Given the description of an element on the screen output the (x, y) to click on. 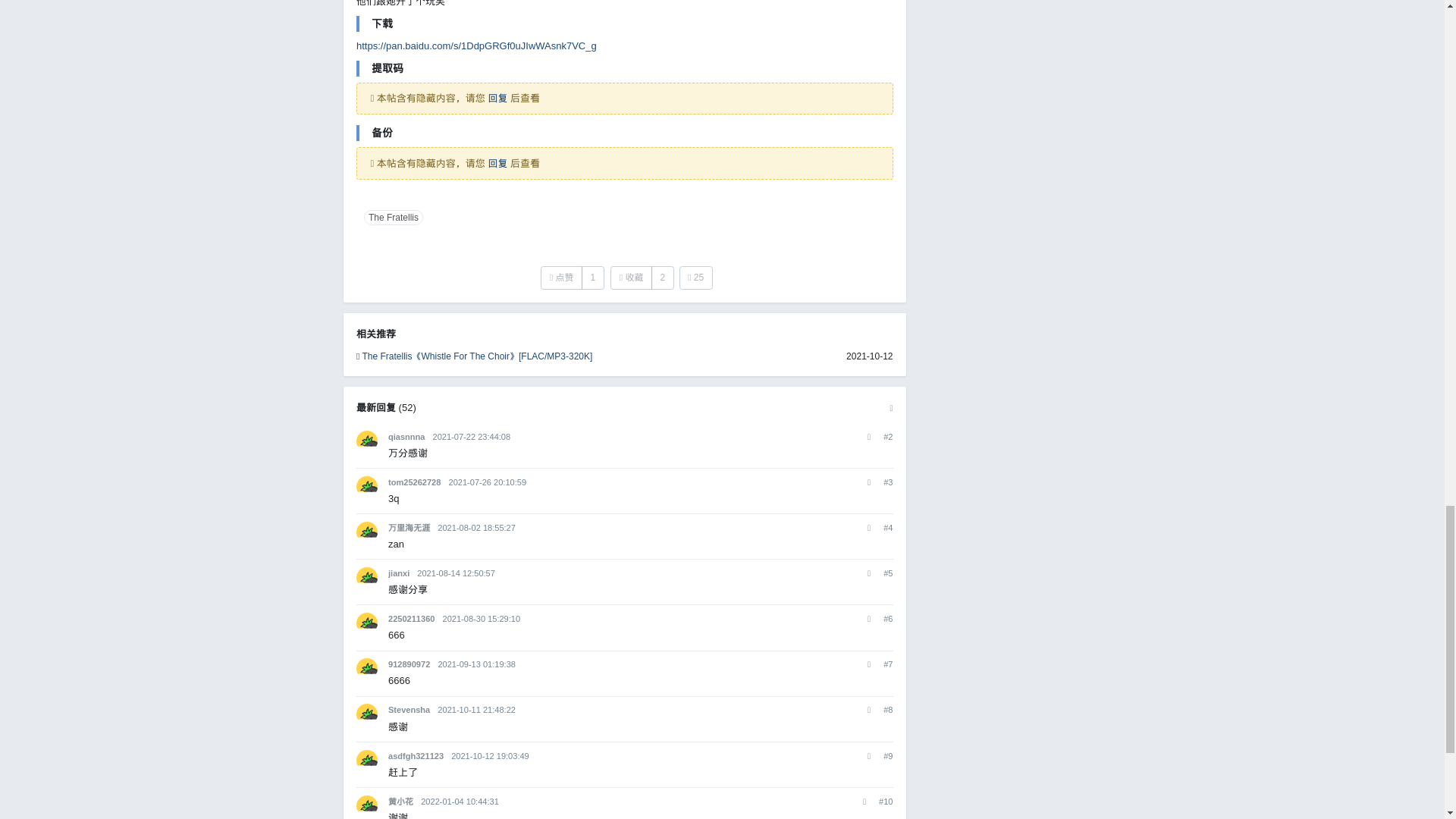
2 (662, 277)
qiasnnna (406, 436)
1 (592, 277)
The Fratellis (393, 217)
 25 (696, 277)
